Given the description of an element on the screen output the (x, y) to click on. 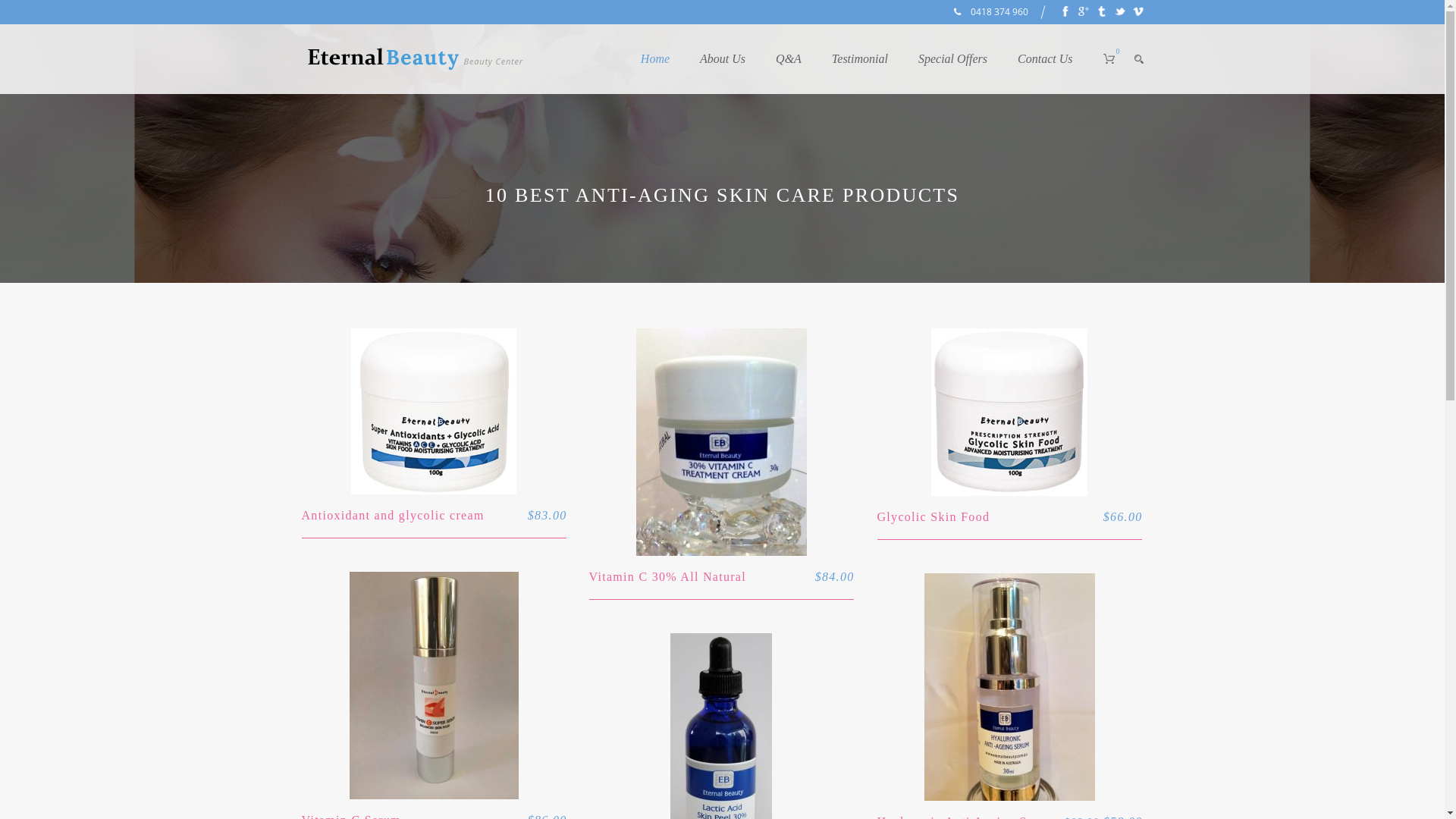
About Us Element type: text (737, 68)
Vitamin C 30% All Natural Element type: text (667, 576)
Antioxidant and glycolic cream Element type: text (392, 514)
Testimonial Element type: text (874, 68)
Q&A Element type: text (803, 68)
Special Offers Element type: text (967, 68)
Home Element type: text (669, 68)
Glycolic Skin Food Element type: text (932, 516)
Contact Us Element type: text (1044, 68)
